Given the description of an element on the screen output the (x, y) to click on. 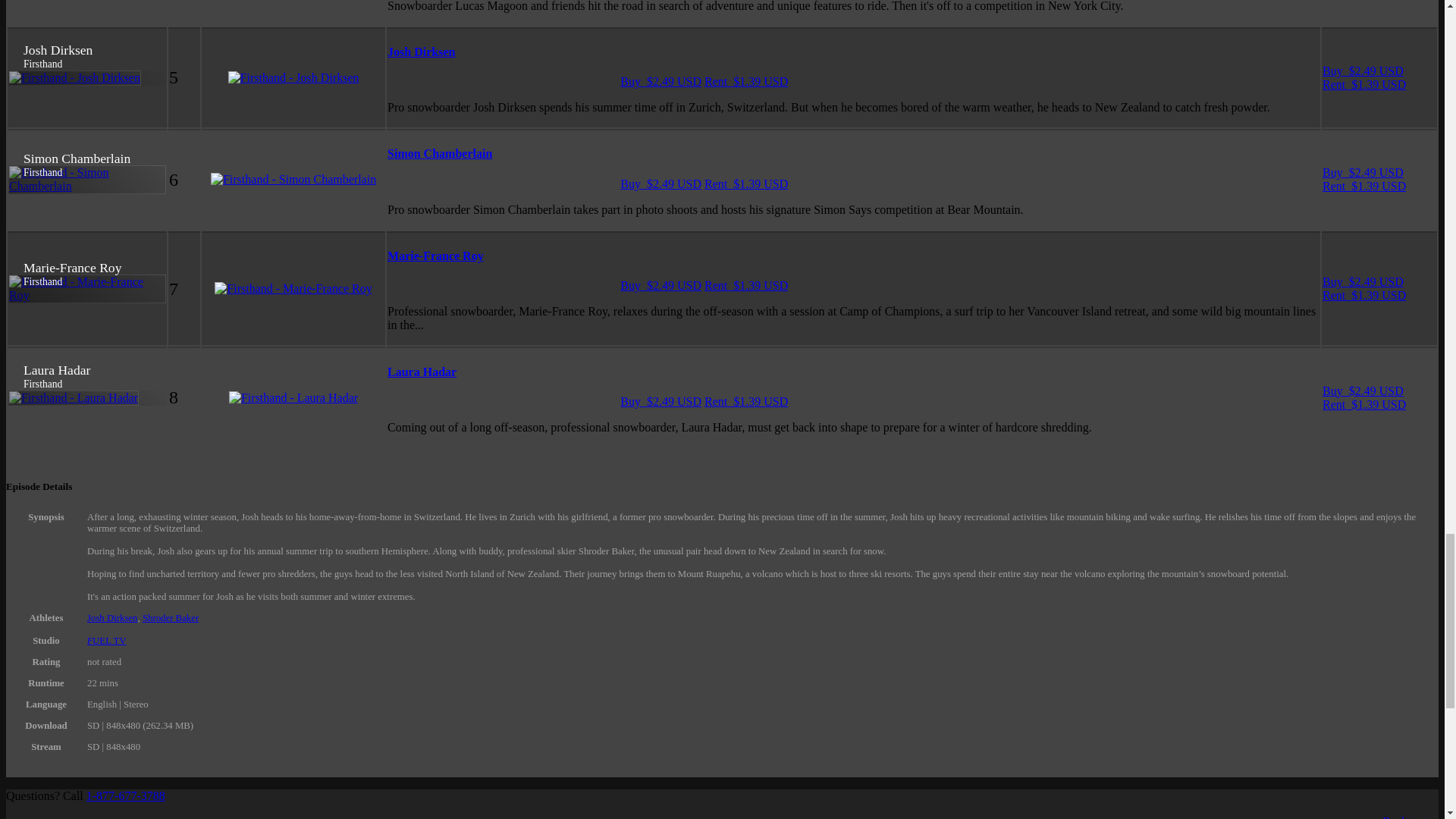
Josh Dirksen (420, 51)
Marie-France Roy (435, 255)
Laura Hadar (422, 371)
Simon Chamberlain (439, 153)
